Given the description of an element on the screen output the (x, y) to click on. 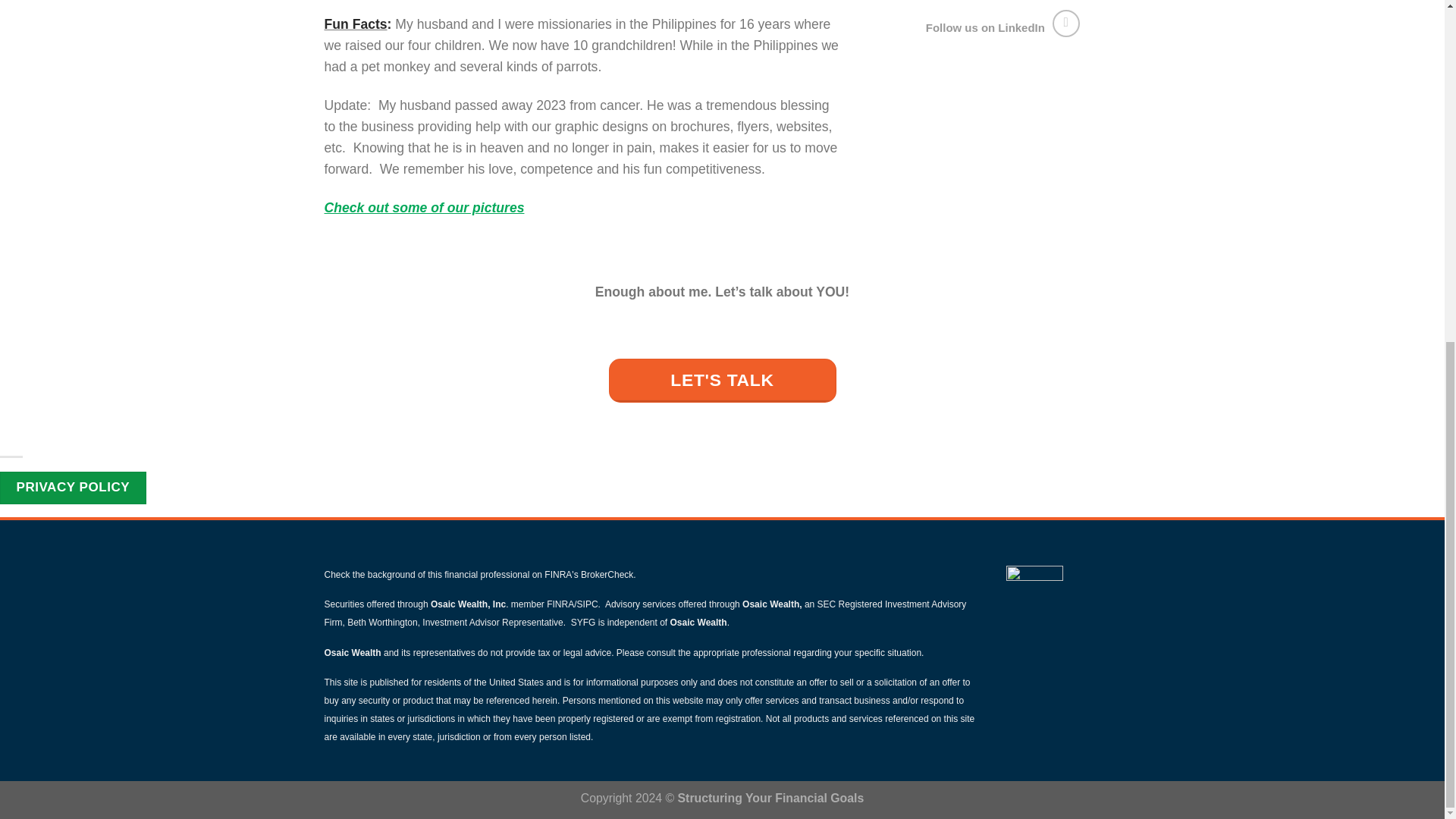
Check the background (369, 574)
SIPC (587, 603)
BrokerCheck (606, 574)
PRIVACY POLICY (73, 487)
LET'S TALK (721, 380)
FINRA (560, 603)
Follow on LinkedIn (1066, 22)
Check out some of our pictures (424, 207)
